Given the description of an element on the screen output the (x, y) to click on. 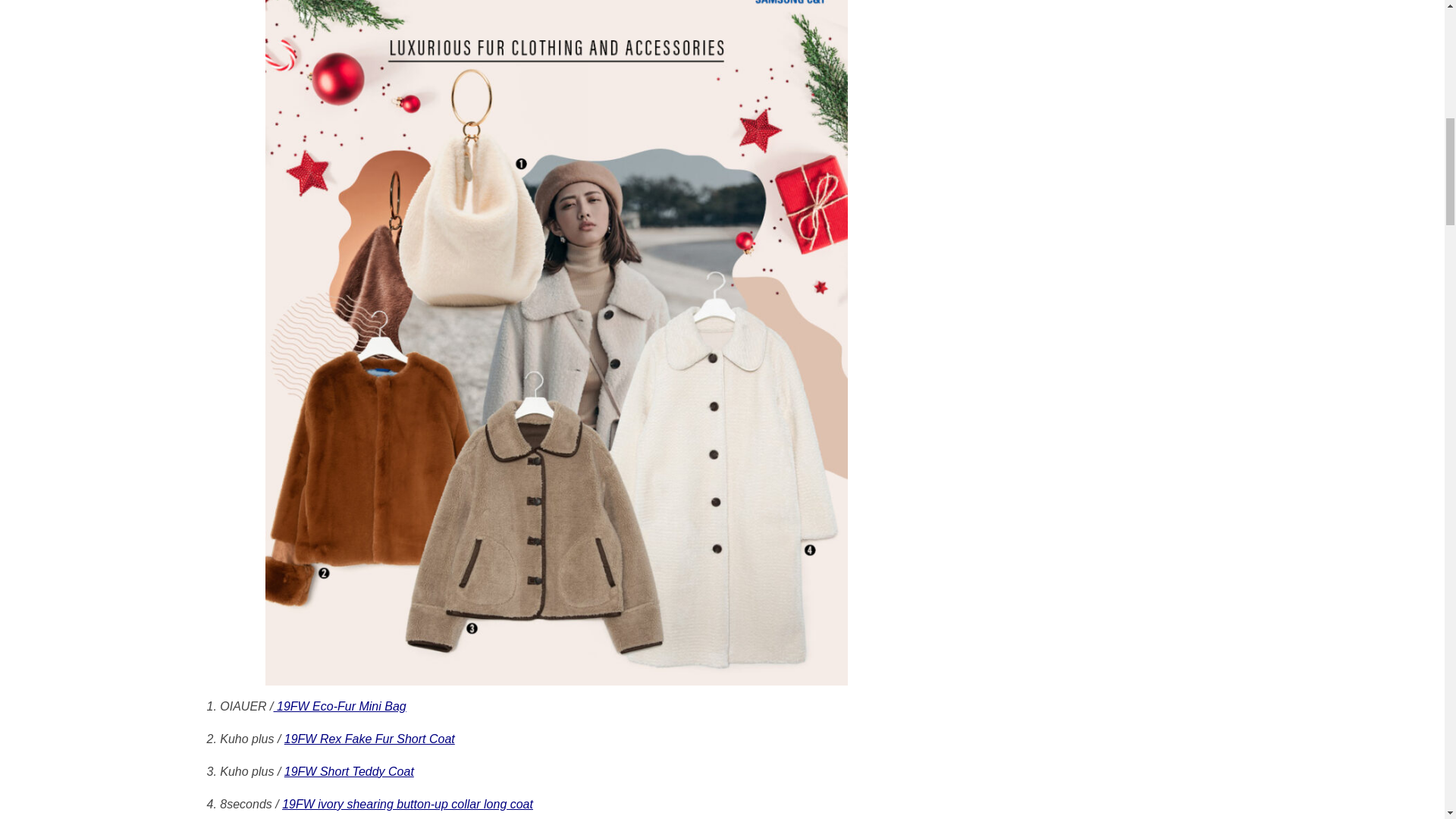
19FW ivory shearing button-up collar long coat (407, 803)
 19FW Eco-Fur Mini Bag (339, 706)
19FW Short Teddy Coat (348, 771)
19FW Rex Fake Fur Short Coat (368, 738)
